Given the description of an element on the screen output the (x, y) to click on. 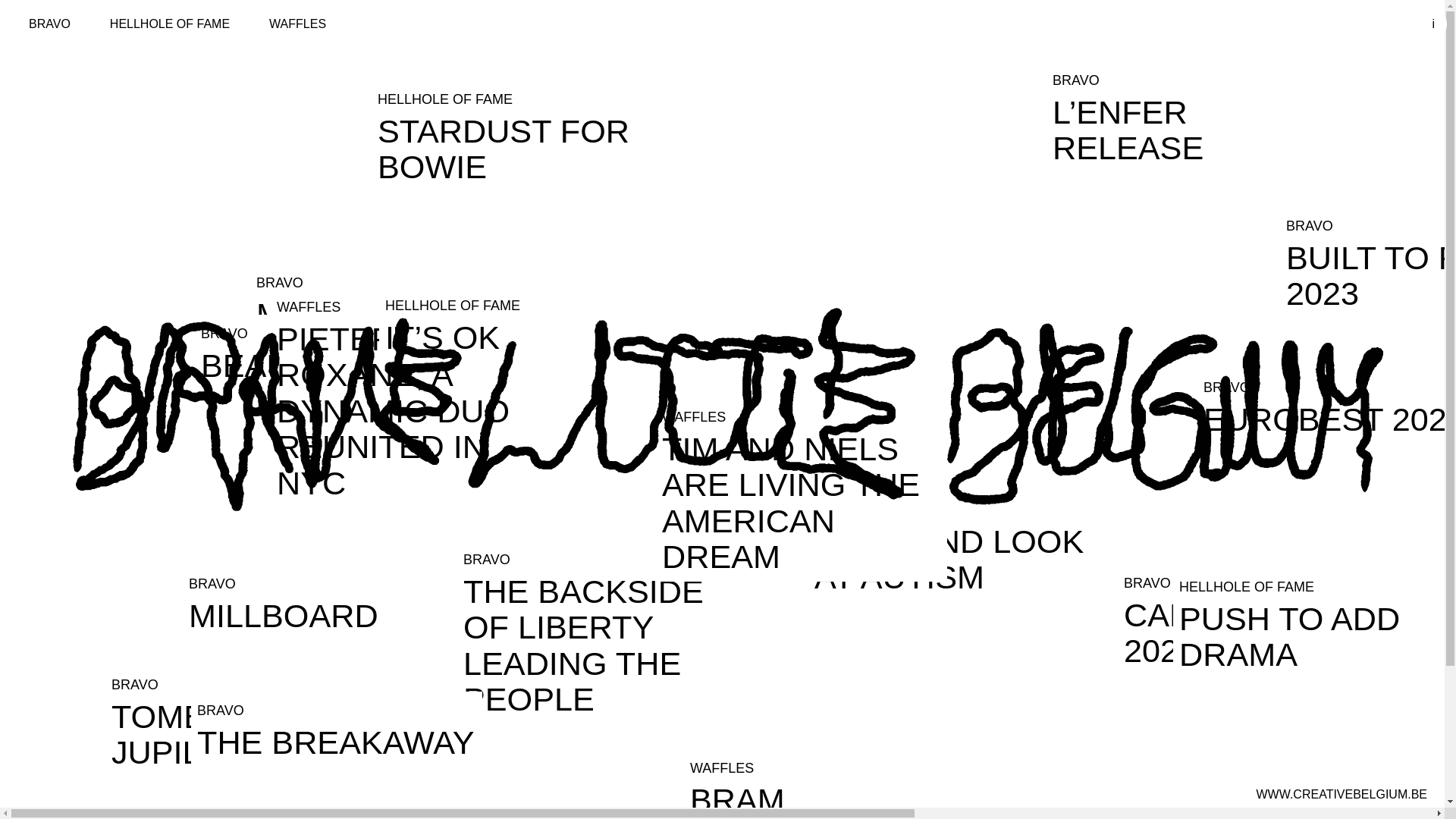
HELLHOLE OF FAME Element type: text (169, 24)
WWW.CREATIVEBELGIUM.BE Element type: text (1341, 794)
WAFFLES Element type: text (297, 24)
BRAVO
CANNES LIONS 2022 Element type: text (1262, 619)
BRAVO Element type: text (49, 24)
BRAVO
MILLBOARD Element type: text (327, 602)
i Element type: text (1432, 24)
WAFFLES
TIM AND NIELS ARE LIVING THE AMERICAN DREAM Element type: text (801, 489)
BRAVO
BEAUTIFUL BINS Element type: text (340, 351)
BRAVO
THE BACKSIDE OF LIBERTY LEADING THE PEOPLE Element type: text (602, 632)
BRAVO
THE BREAKAWAY Element type: text (336, 728)
HELLHOLE OF FAME
STARDUST FOR BOWIE Element type: text (516, 135)
BRAVO
TOMBOY X JUPILER Element type: text (250, 721)
BRAVO
MAKING SENSE THROUGH NONSENSE Element type: text (395, 337)
BRAVO
A SECOND LOOK AT AUTISM Element type: text (953, 546)
WAFFLES
PIETER AND ROXANE, A DYNAMIC DUO REUNITED IN NYC Element type: text (415, 397)
